Given the description of an element on the screen output the (x, y) to click on. 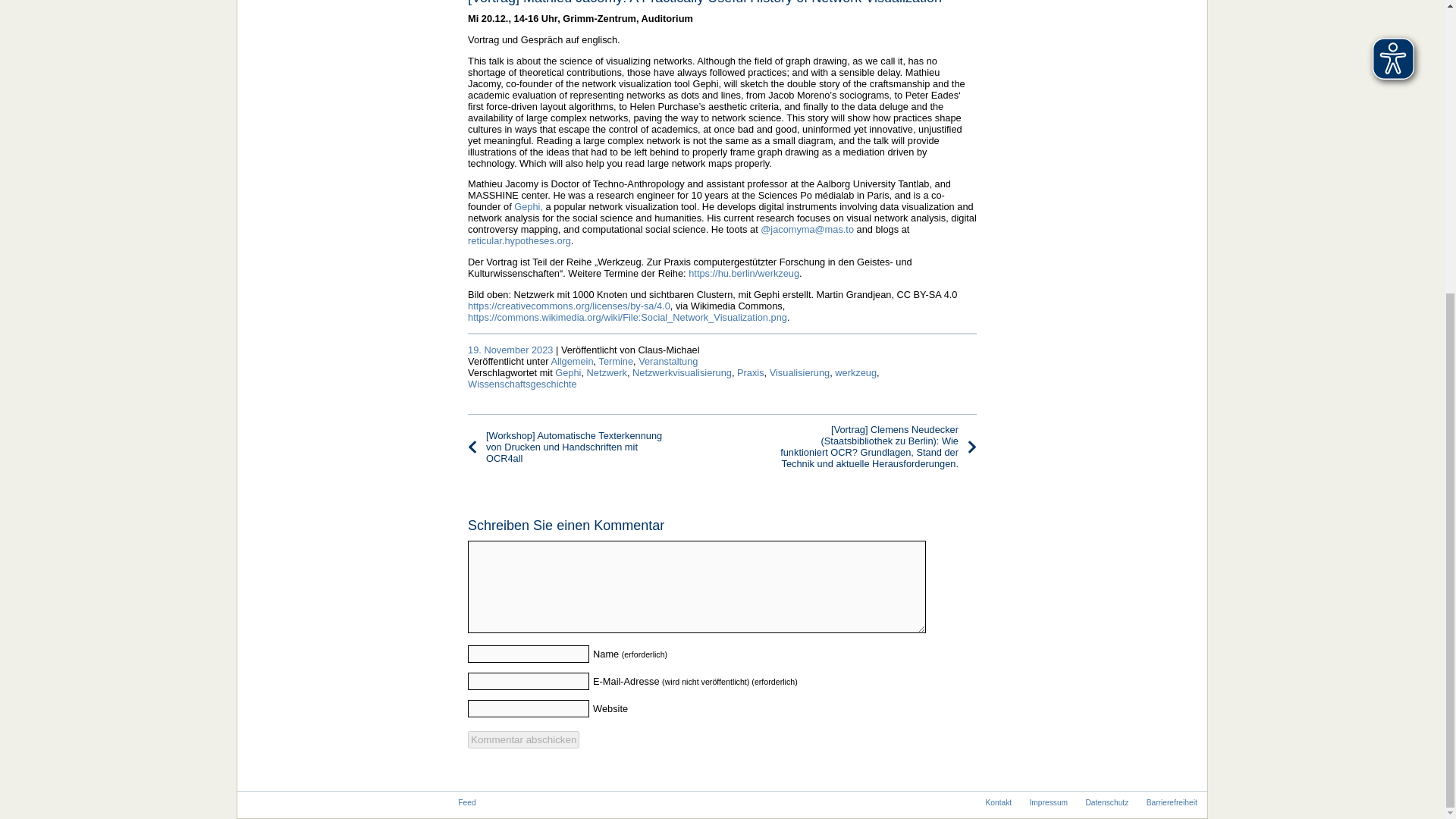
Allgemein (571, 360)
Termine (615, 360)
Gephi (567, 372)
19. November 2023 (510, 349)
reticular.hypotheses.org (518, 240)
Netzwerk (606, 372)
Netzwerkvisualisierung (681, 372)
Veranstaltung (668, 360)
Praxis (750, 372)
phi, (535, 206)
Ge (520, 206)
Kommentar abschicken (523, 739)
